Given the description of an element on the screen output the (x, y) to click on. 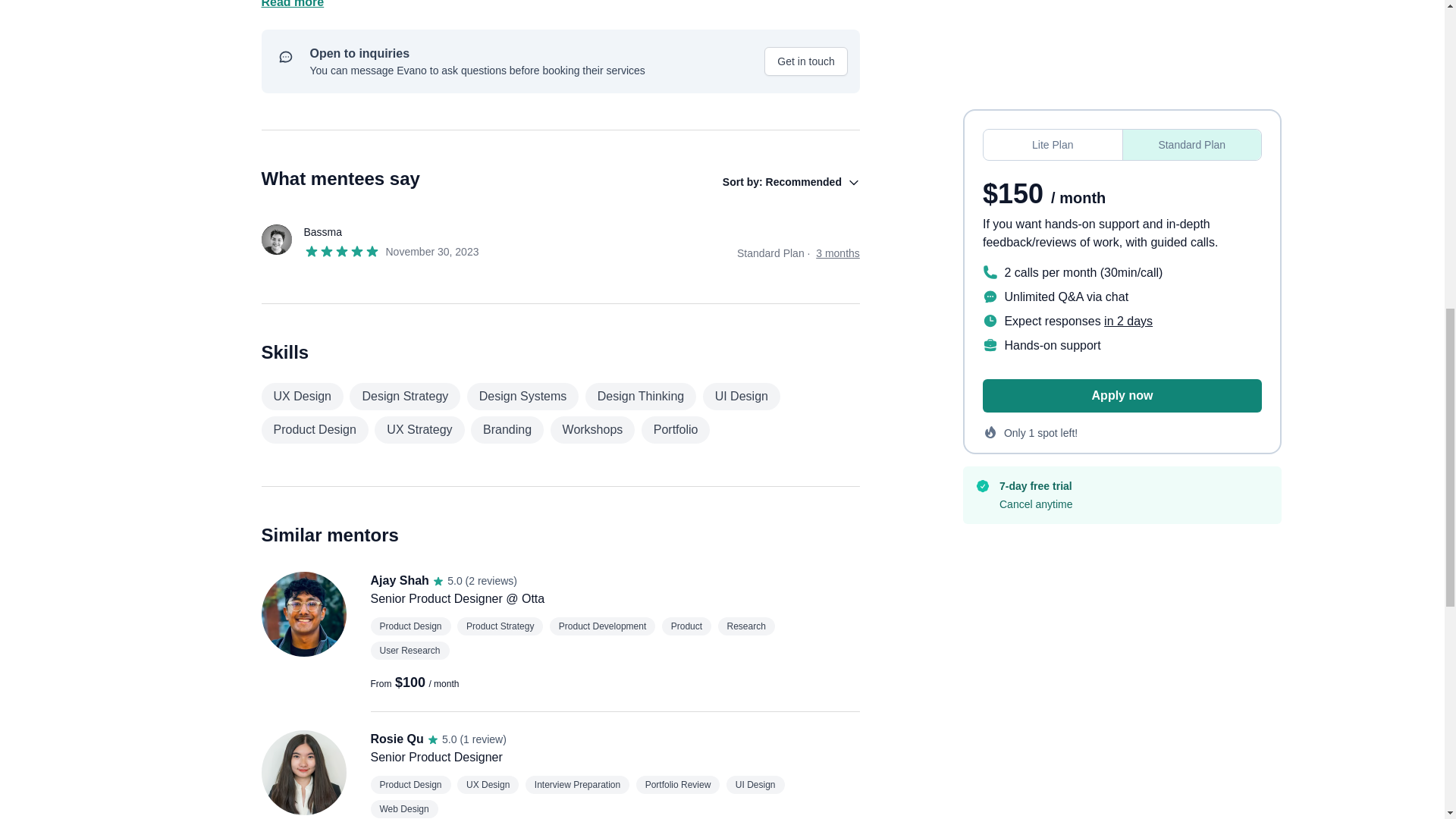
Get in touch (805, 61)
Read more (559, 5)
